Given the description of an element on the screen output the (x, y) to click on. 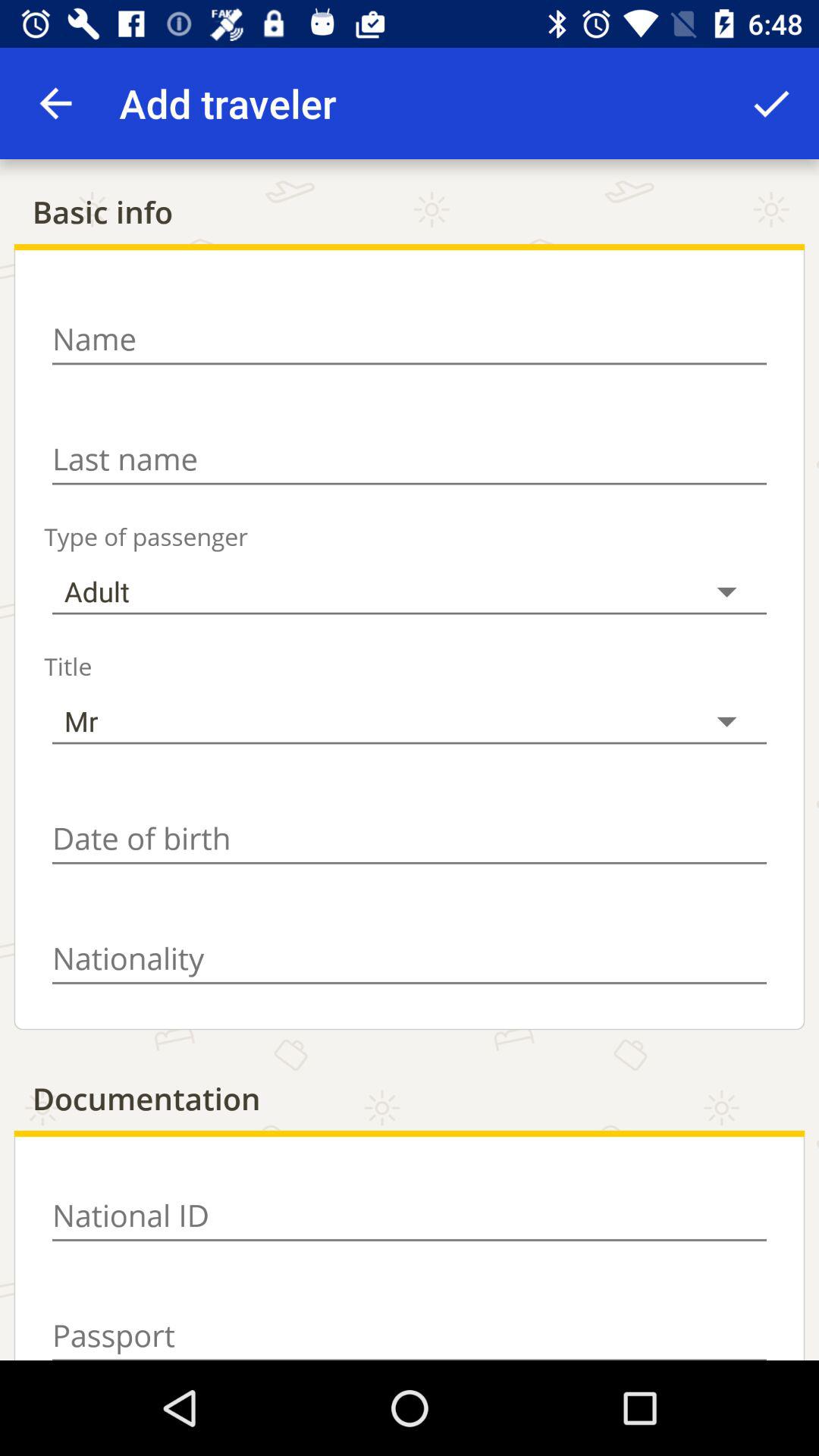
input information (409, 1215)
